Given the description of an element on the screen output the (x, y) to click on. 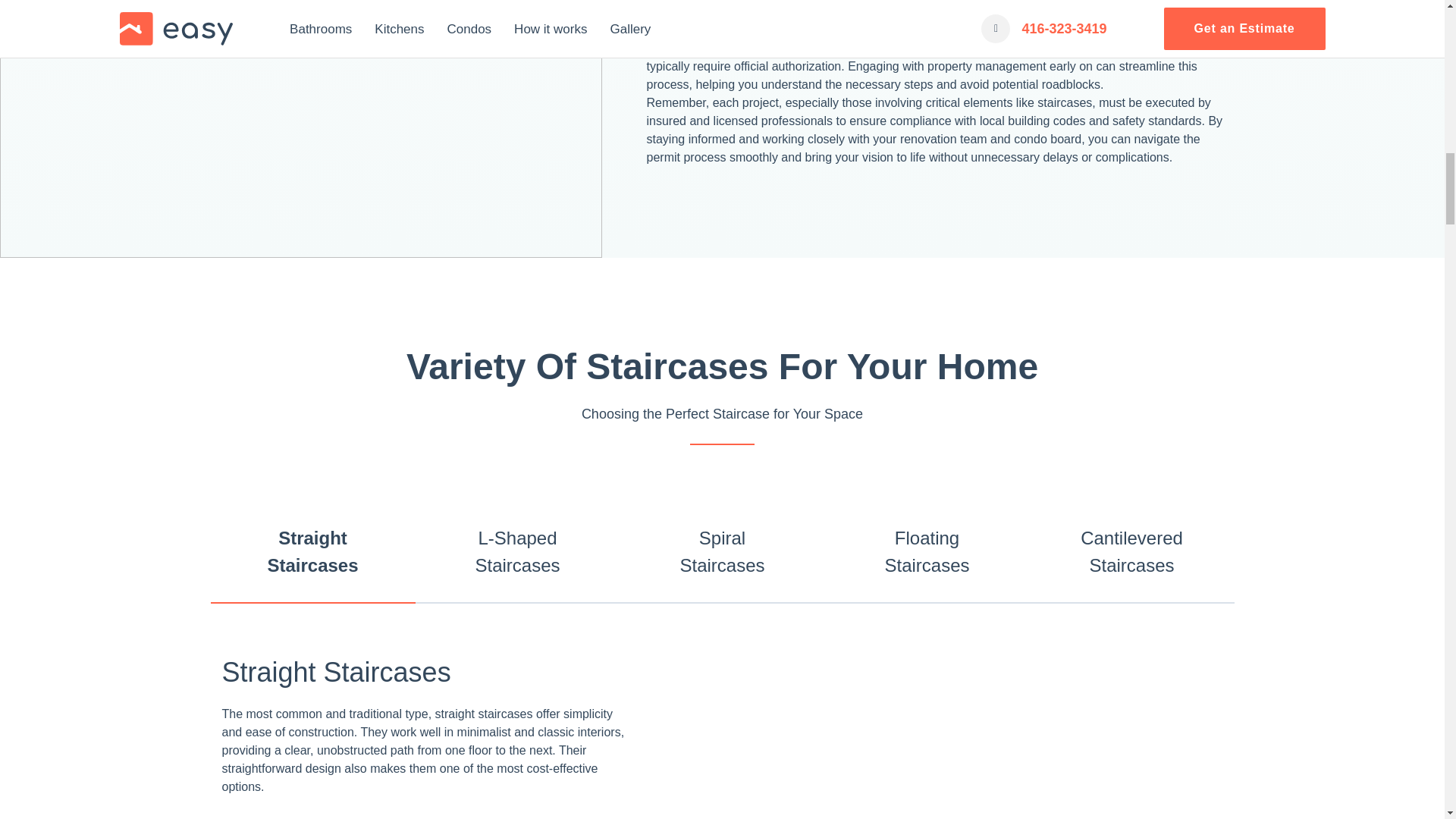
Straight Staircases (312, 551)
Floating Staircases (927, 551)
L-Shaped Staircases (517, 551)
Cantilevered Staircases (1131, 551)
